Given the description of an element on the screen output the (x, y) to click on. 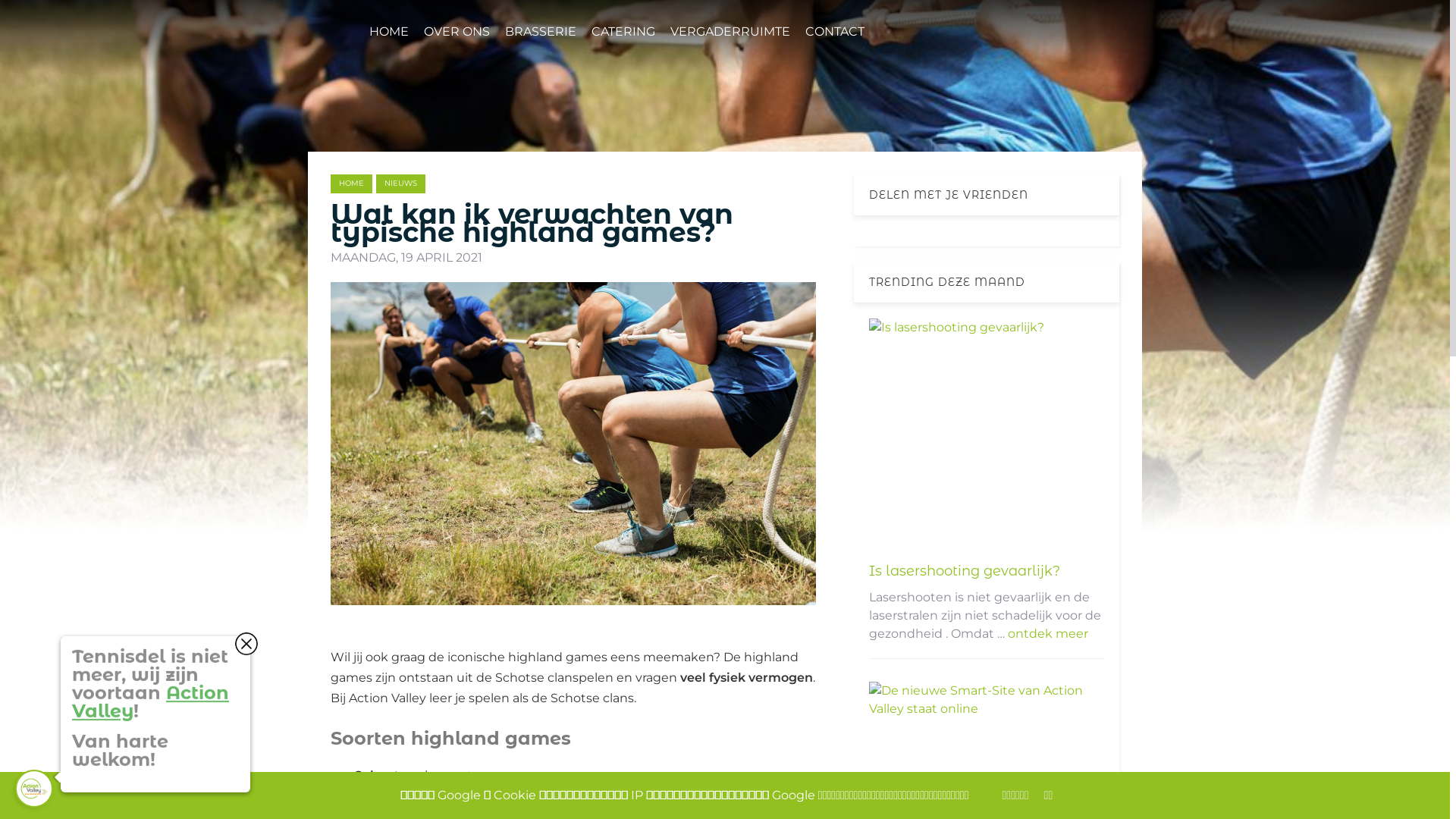
NIEUWS Element type: text (400, 183)
CATERING Element type: text (623, 31)
Is lasershooting gevaarlijk? Element type: text (964, 570)
BRASSERIE Element type: text (540, 31)
HOME Element type: text (351, 183)
ontdek meer Element type: text (1047, 633)
OVER ONS Element type: text (456, 31)
HOME Element type: text (388, 31)
CONTACT Element type: text (834, 31)
VERGADERRUIMTE Element type: text (730, 31)
